Given the description of an element on the screen output the (x, y) to click on. 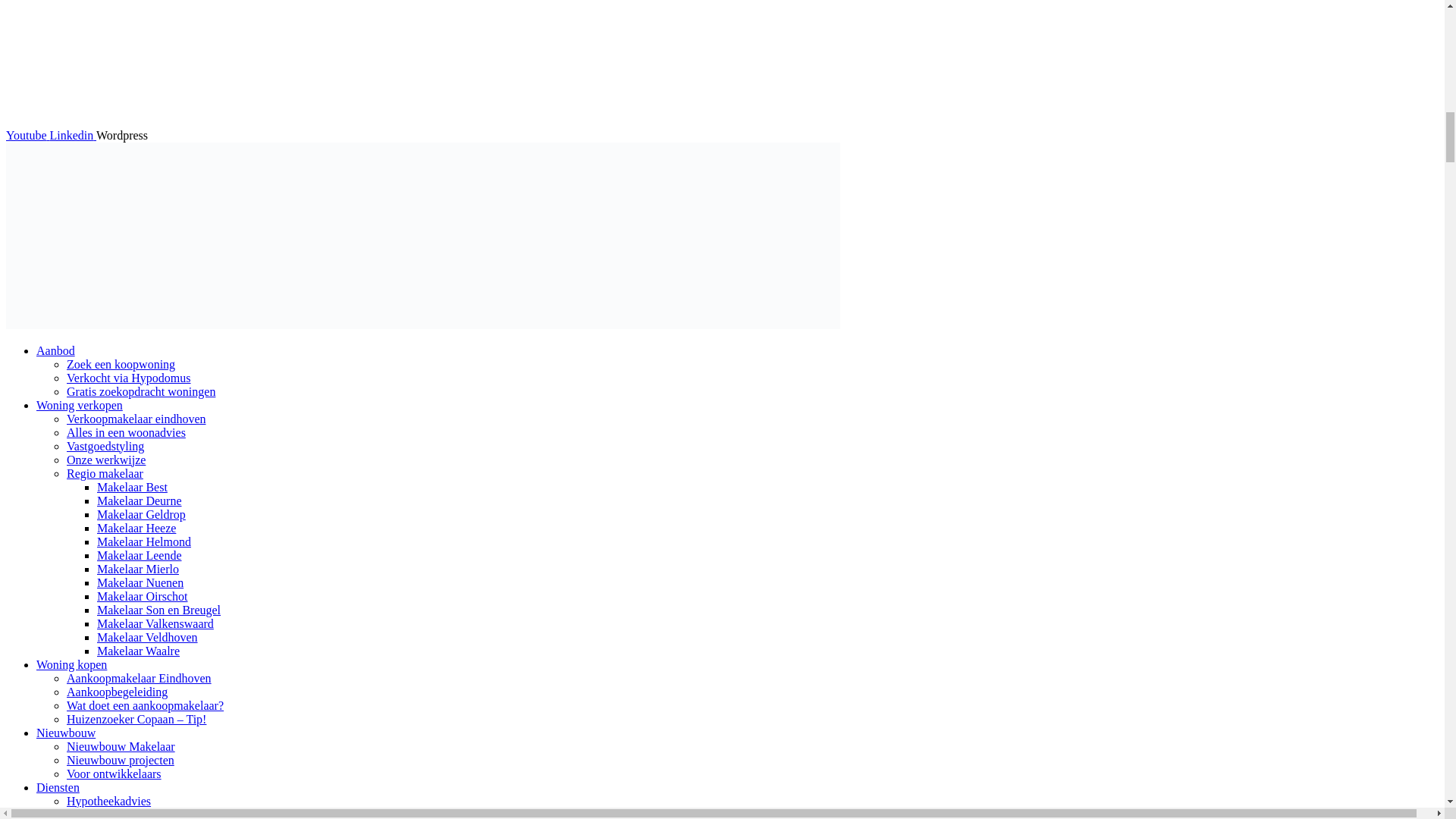
Makelaar Valkenswaard (155, 623)
Wordpress (122, 134)
Linkedin (72, 134)
Makelaar Helmond (143, 541)
Zoek een koopwoning (120, 364)
Onze werkwijze (105, 459)
Aanbod (55, 350)
Makelaar Geldrop (141, 513)
Makelaar Heeze (136, 527)
Verkocht via Hypodomus (128, 377)
